Given the description of an element on the screen output the (x, y) to click on. 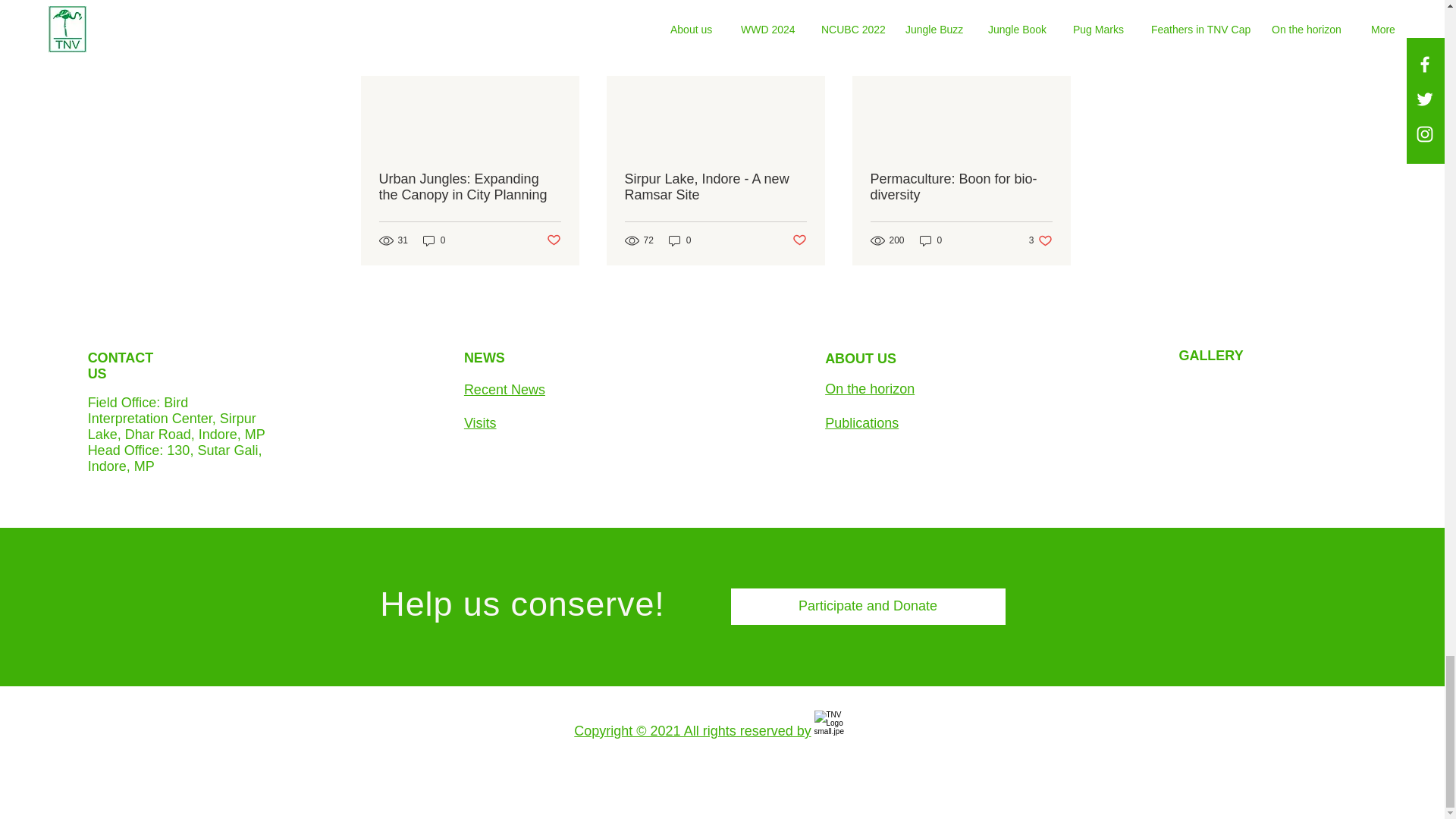
0 (434, 239)
Urban Jungles: Expanding the Canopy in City Planning (469, 187)
Sirpur Lake, Indore - A new Ramsar Site (715, 187)
See All (1056, 7)
0 (679, 239)
Post not marked as liked (553, 240)
